Given the description of an element on the screen output the (x, y) to click on. 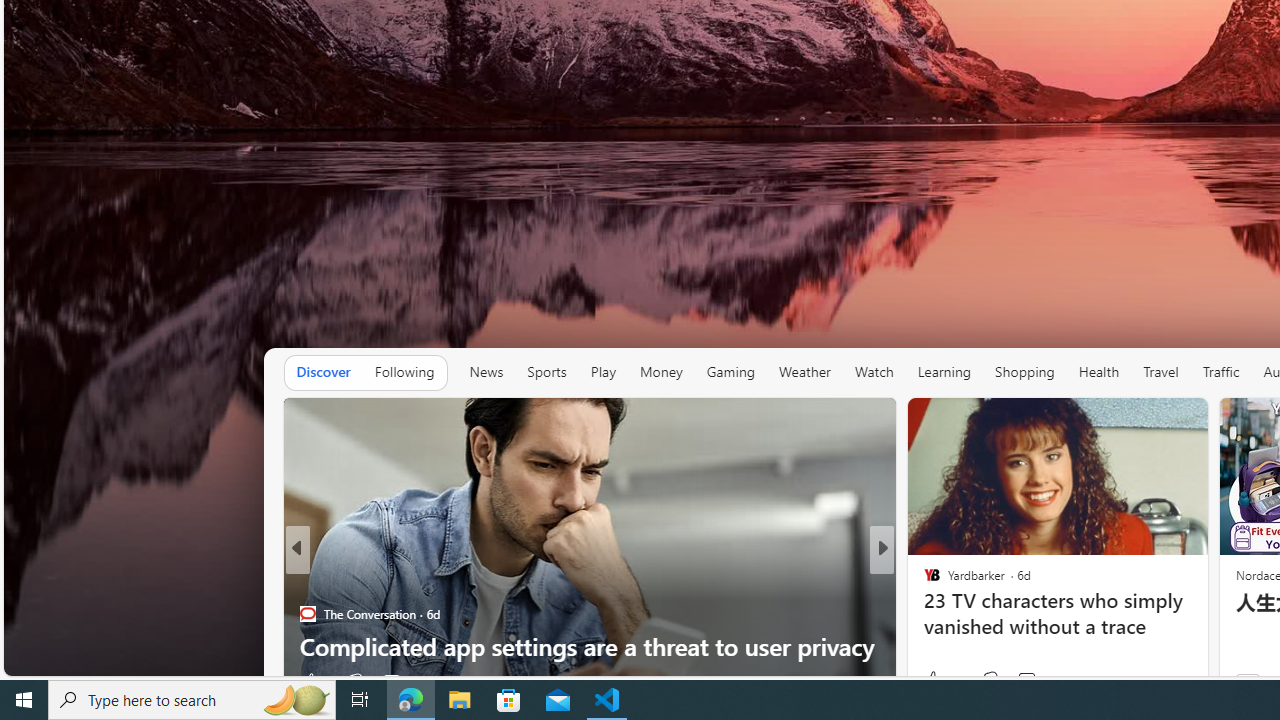
Traffic (1220, 372)
Nordace (938, 614)
Daily Meal (923, 614)
2k Like (933, 681)
Sports (546, 372)
View comments 25 Comment (1022, 681)
Watch (874, 372)
77 Like (934, 681)
View comments 88 Comment (1029, 681)
View comments 16 Comment (1022, 681)
8 Like (930, 681)
The Washington Post (923, 581)
Billboard (923, 581)
2 Like (313, 681)
